Given the description of an element on the screen output the (x, y) to click on. 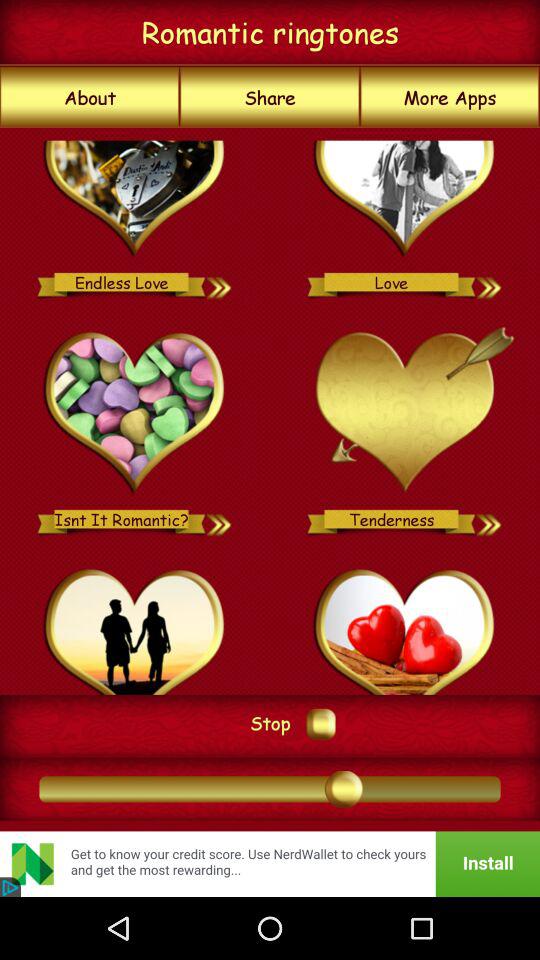
choose the icon at the top right corner (450, 97)
